Given the description of an element on the screen output the (x, y) to click on. 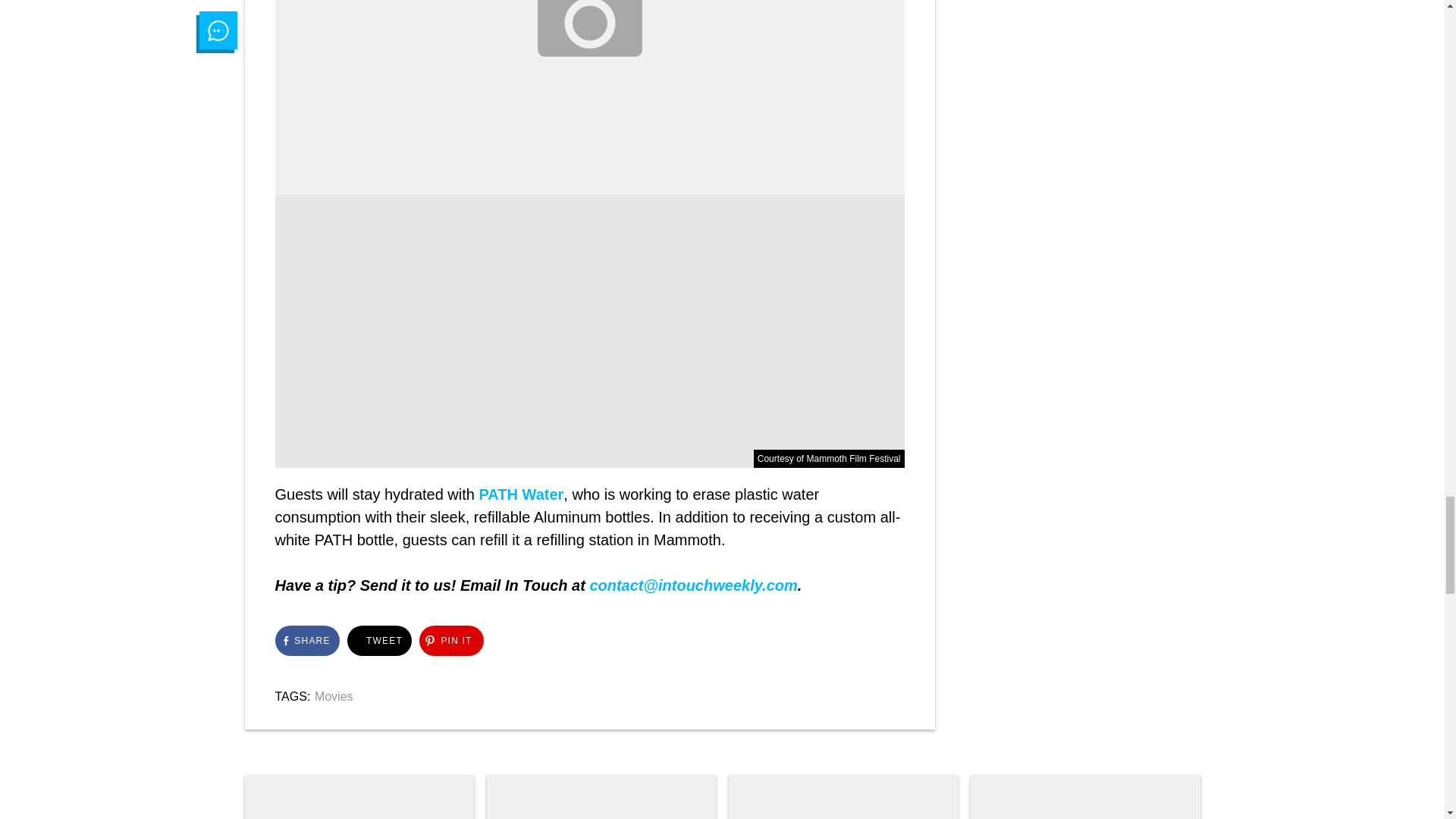
Click to share on Facebook (307, 640)
Click to share on Pinterest (451, 640)
Click to share on Twitter (379, 640)
